Given the description of an element on the screen output the (x, y) to click on. 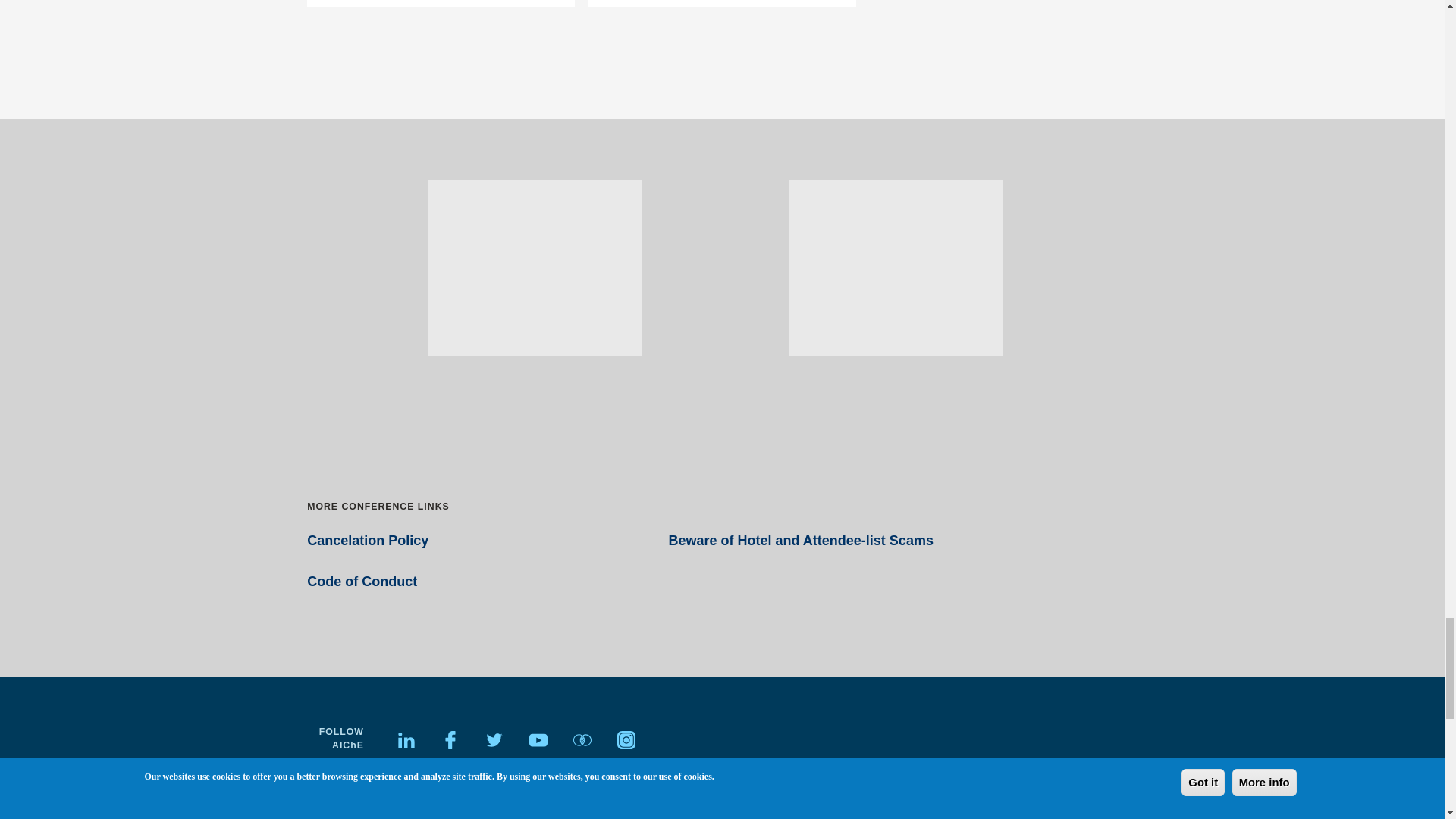
3rd party ad content (533, 268)
3rd party ad content (896, 268)
